Given the description of an element on the screen output the (x, y) to click on. 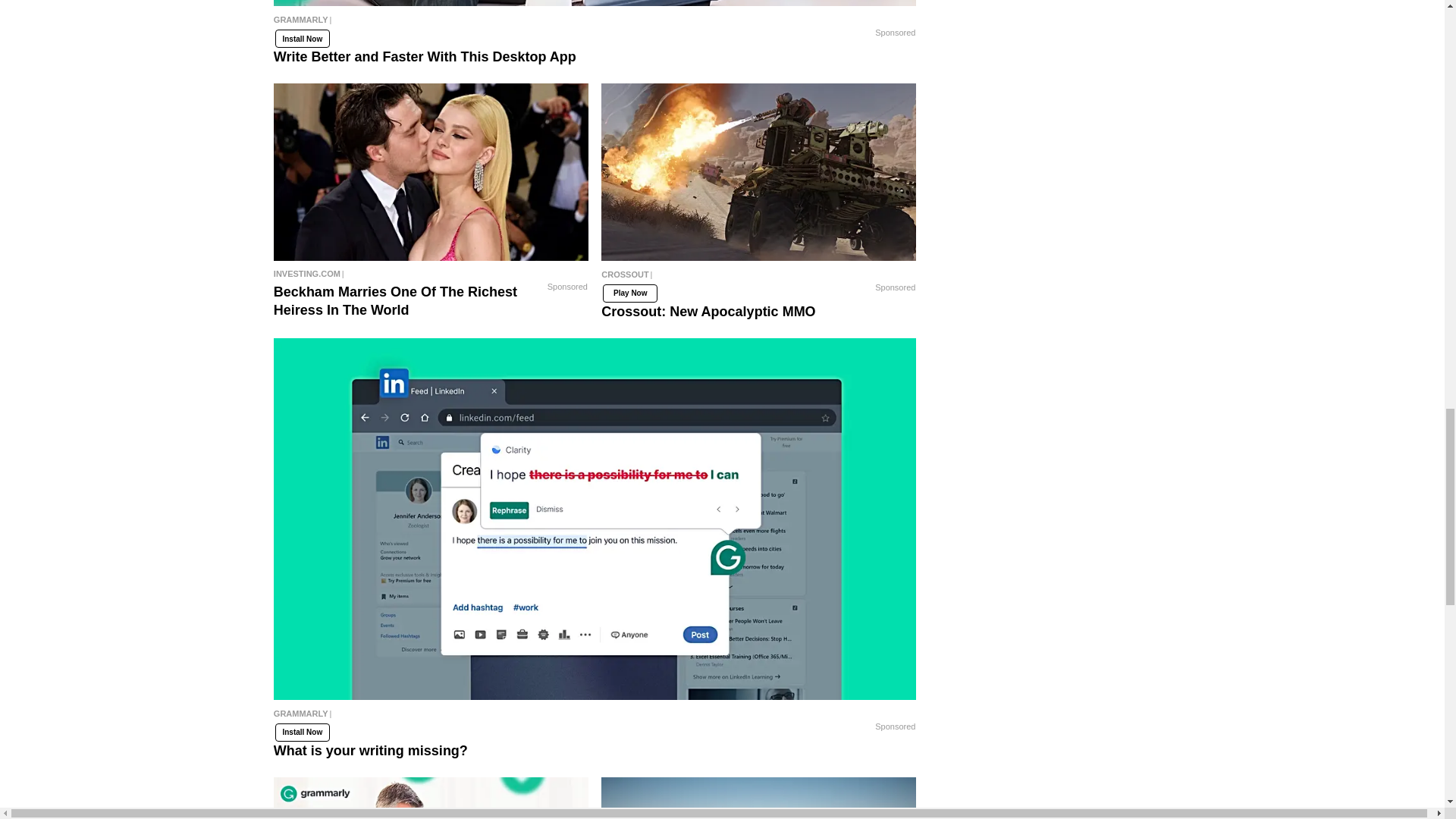
Beckham Marries One Of The Richest Heiress In The World (430, 273)
What is your writing missing? (595, 717)
Crossout: New Apocalyptic MMO (758, 277)
Write Better and Faster With This Desktop App (595, 22)
